Given the description of an element on the screen output the (x, y) to click on. 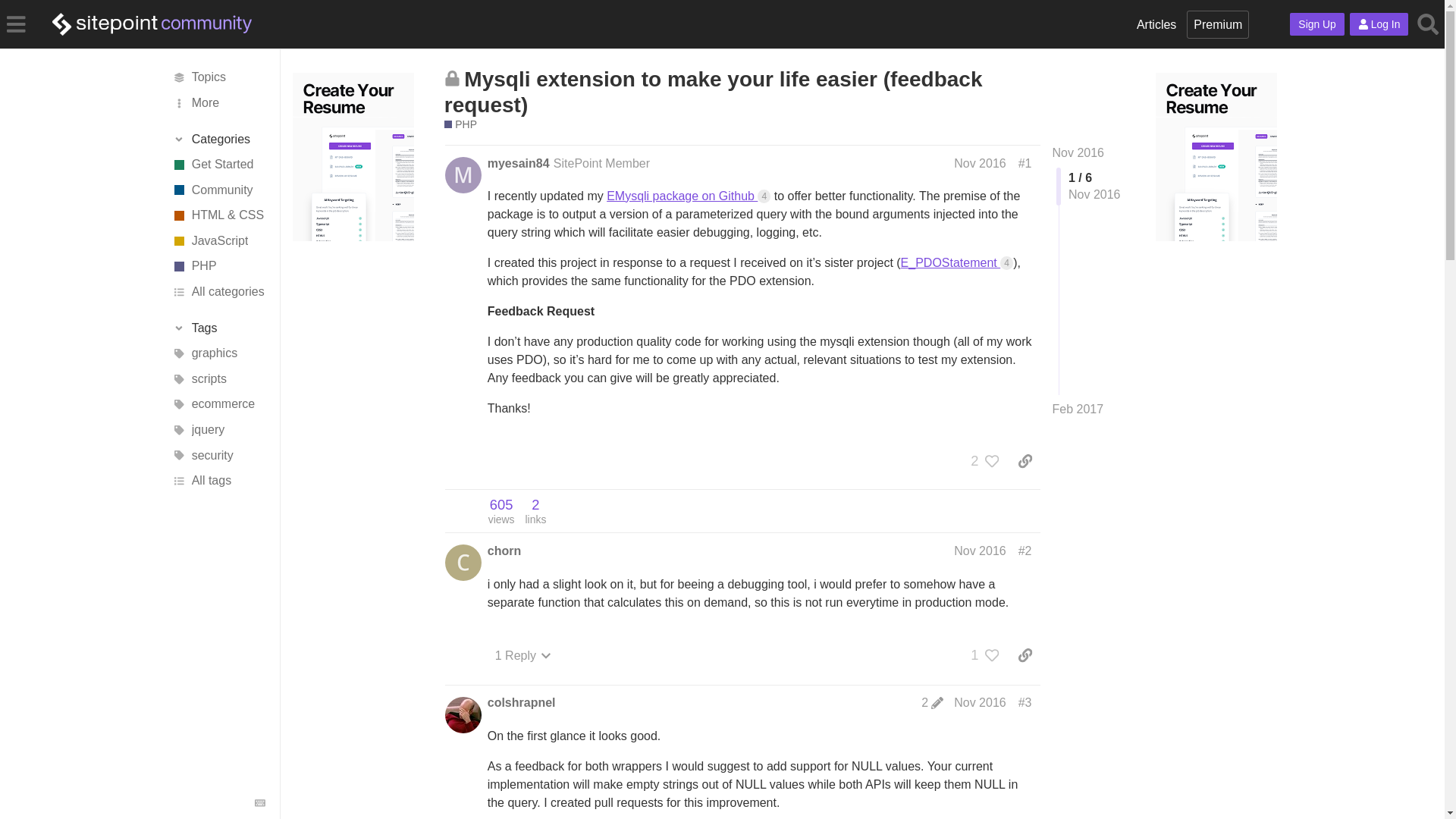
Premium (1217, 24)
Toggle section (217, 328)
Log In (1379, 24)
Community (217, 190)
Articles (1156, 24)
Get Started (217, 164)
security (217, 455)
Sidebar (16, 23)
ecommerce (501, 511)
